Given the description of an element on the screen output the (x, y) to click on. 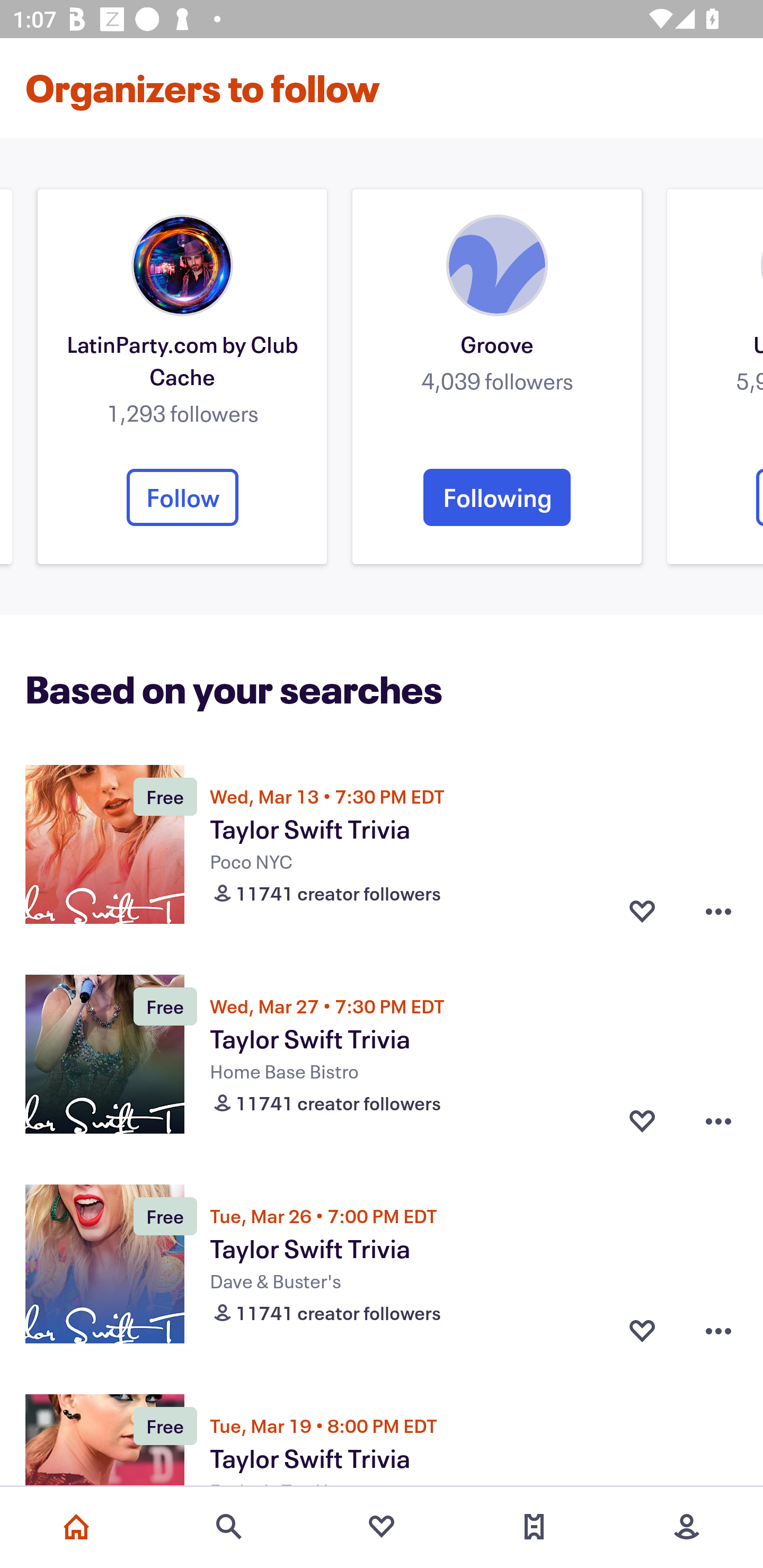
Follow Organizer's follow button (182, 496)
Following Organizer's follow button (496, 496)
Favorite button (642, 910)
Overflow menu button (718, 910)
Favorite button (642, 1120)
Overflow menu button (718, 1120)
Favorite button (642, 1330)
Overflow menu button (718, 1330)
Home (76, 1526)
Search events (228, 1526)
Favorites (381, 1526)
Tickets (533, 1526)
More (686, 1526)
